Given the description of an element on the screen output the (x, y) to click on. 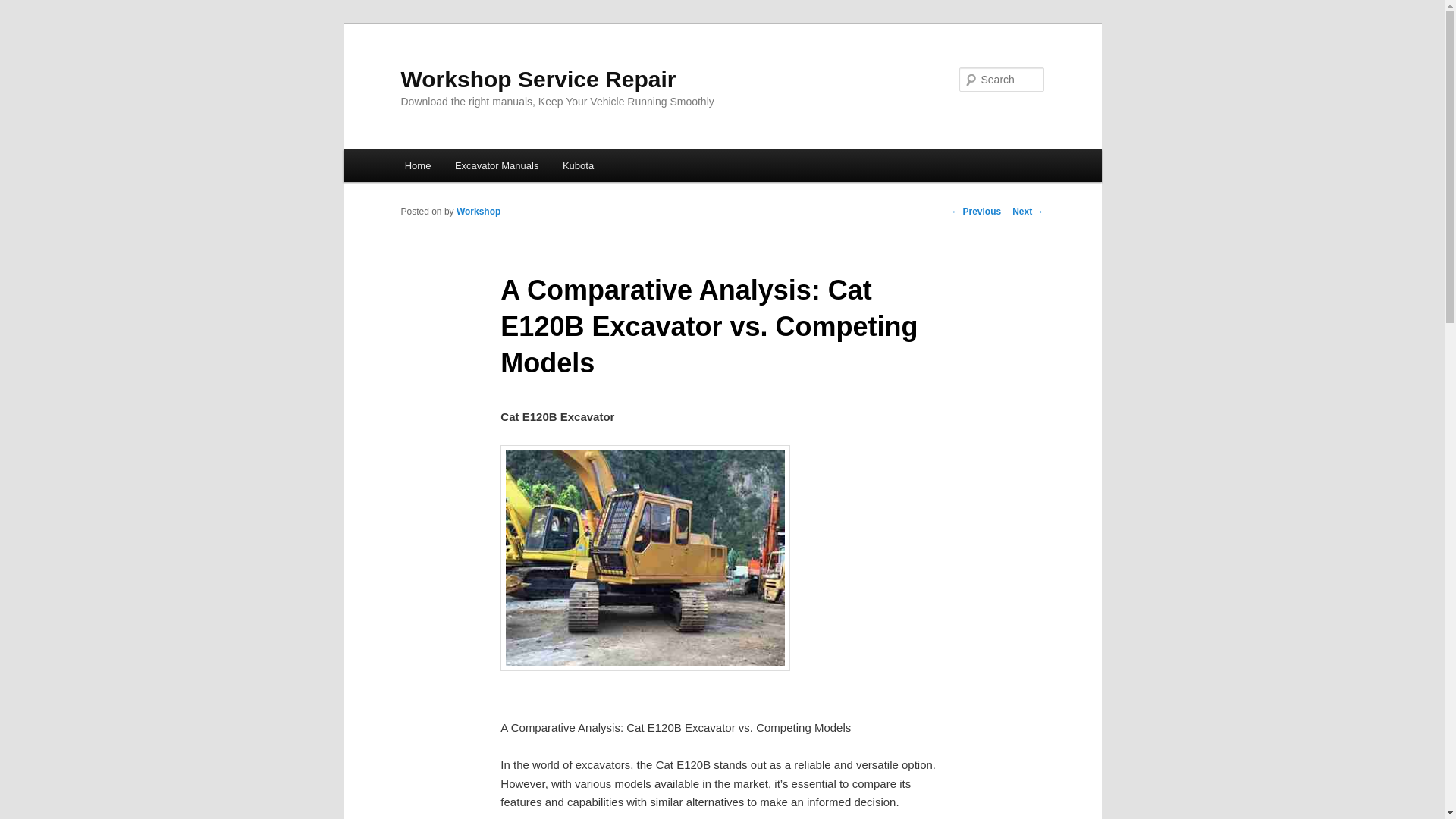
Home (417, 165)
Excavator Manuals (496, 165)
View all posts by Workshop (478, 211)
Workshop Service Repair (537, 78)
Search (24, 8)
Kubota (577, 165)
Workshop (478, 211)
